Given the description of an element on the screen output the (x, y) to click on. 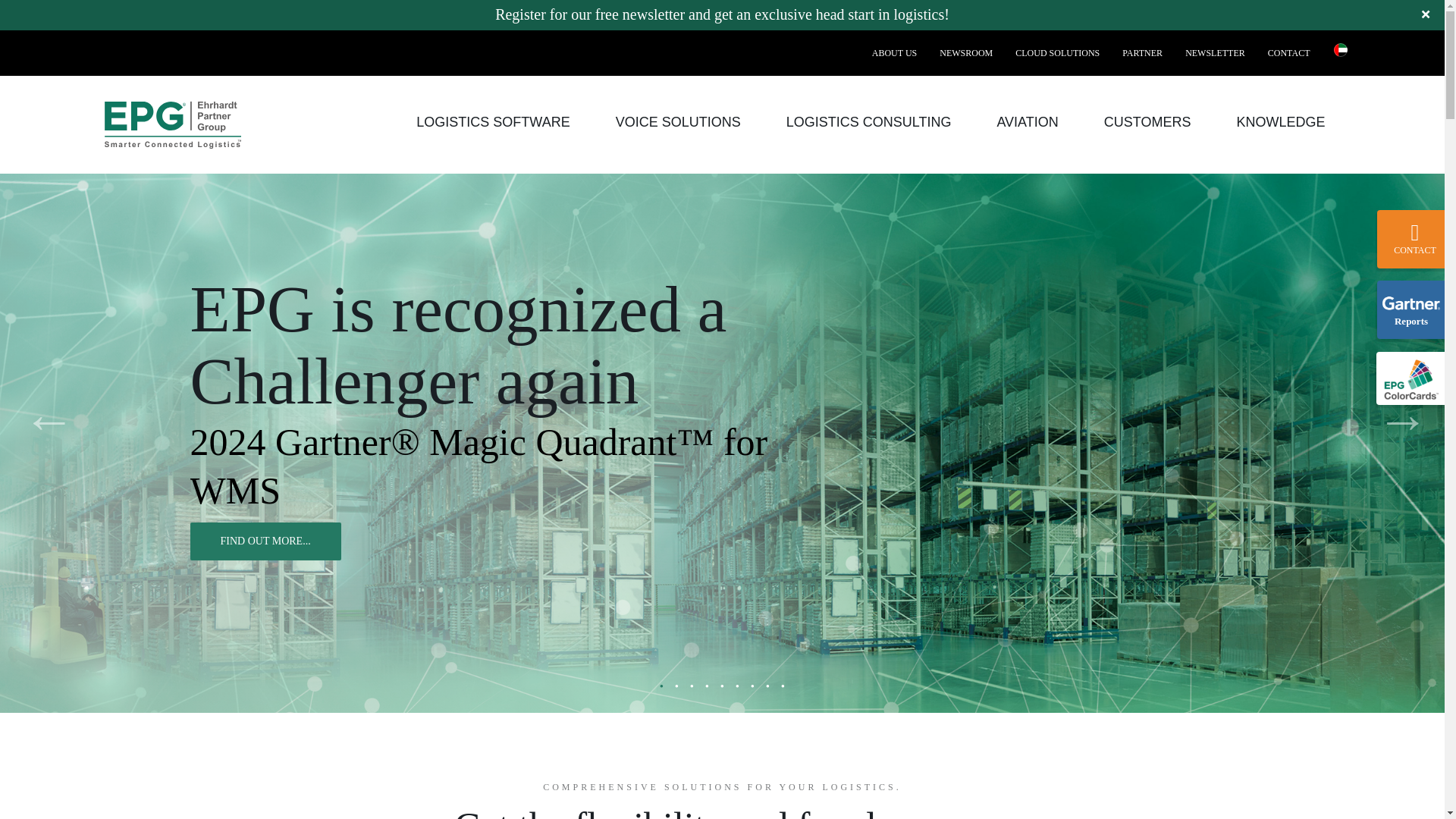
CLOUD SOLUTIONS (1057, 53)
NEWSROOM (966, 53)
ABOUT US (894, 53)
Find out more... (264, 541)
LOGISTICS CONSULTING (868, 124)
NEWSLETTER (1214, 53)
VOICE SOLUTIONS (677, 124)
CONTACT (1289, 53)
PARTNER (1141, 53)
LOGISTICS SOFTWARE (492, 124)
